Given the description of an element on the screen output the (x, y) to click on. 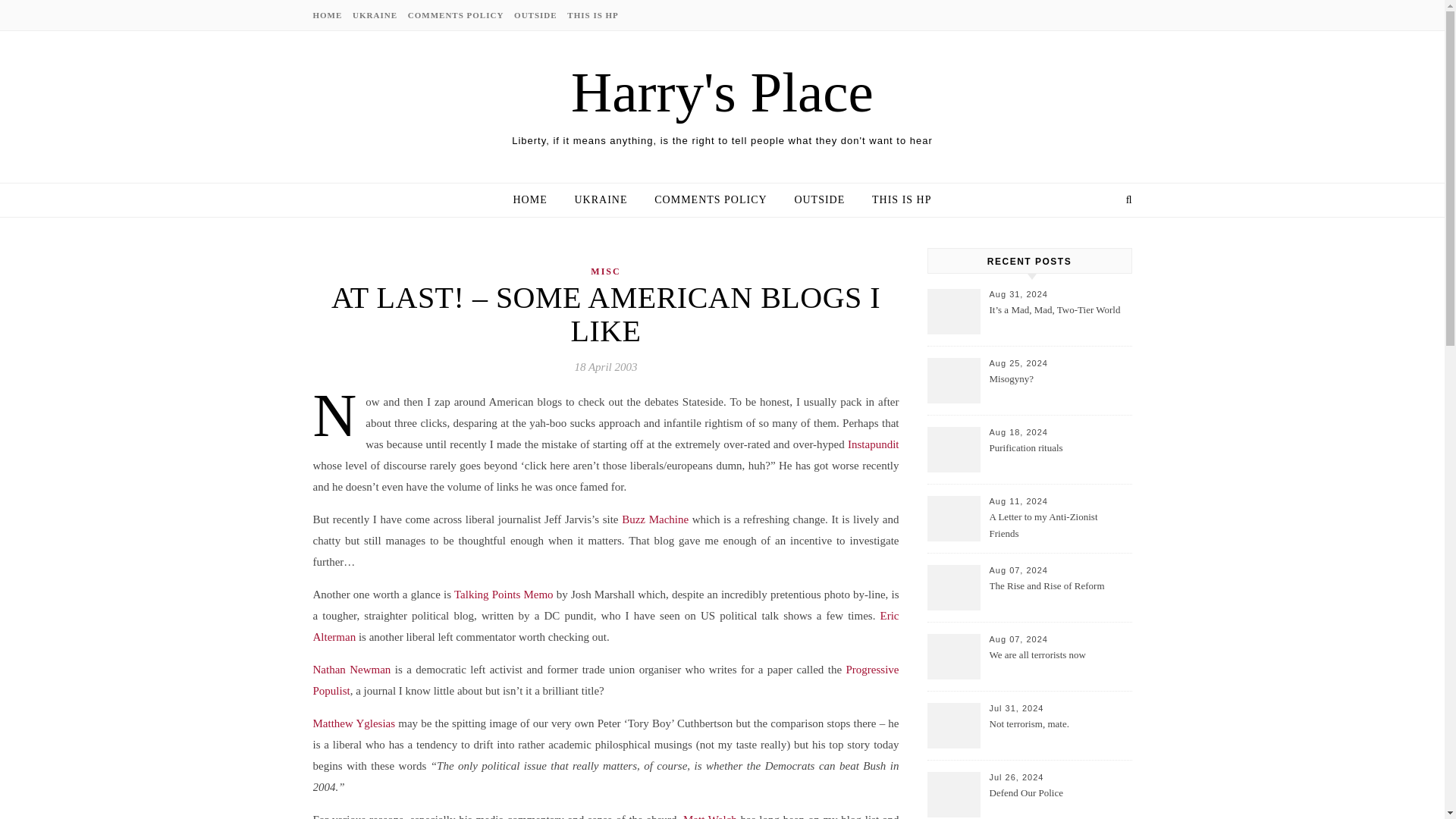
COMMENTS POLICY (456, 15)
We are all terrorists now (1058, 664)
Nathan Newman (351, 669)
OUTSIDE (535, 15)
Defend Our Police (1058, 801)
Matthew Yglesias (355, 723)
Eric Alterman (605, 625)
OUTSIDE (819, 200)
Buzz Machine (654, 519)
HOME (535, 200)
